Given the description of an element on the screen output the (x, y) to click on. 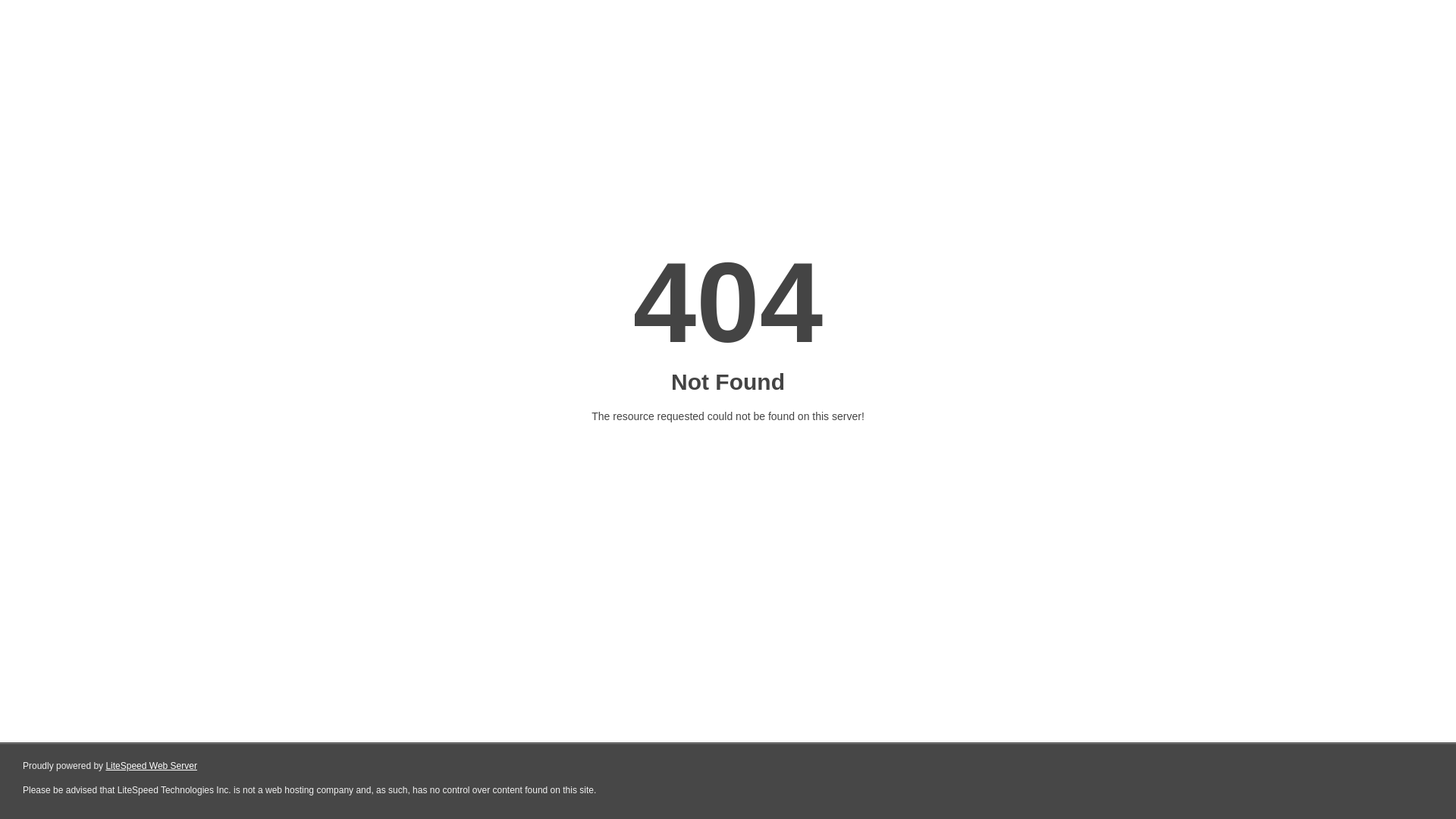
LiteSpeed Web Server Element type: text (151, 765)
